Given the description of an element on the screen output the (x, y) to click on. 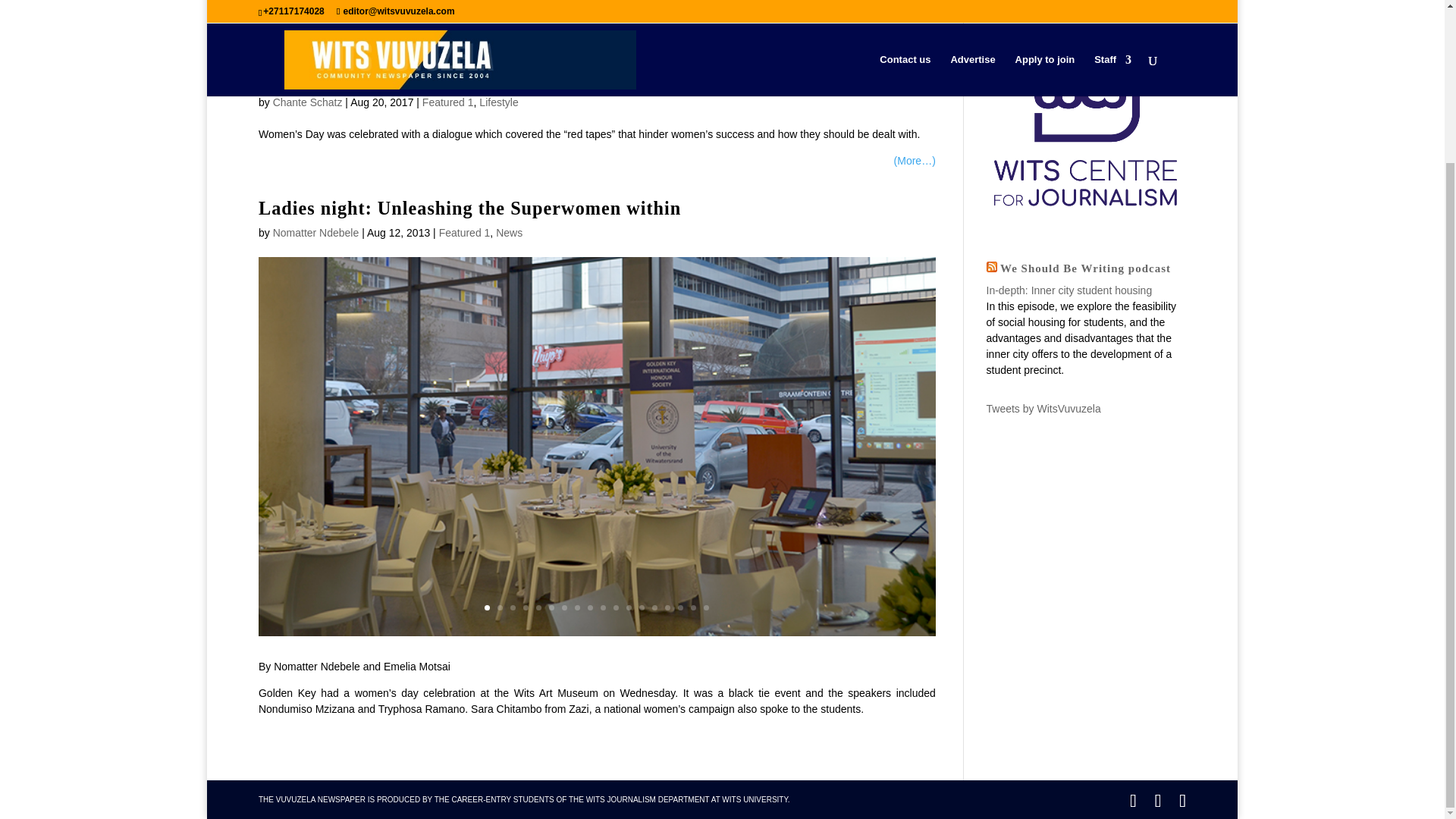
Posts by Chante Schatz (307, 102)
Posts by Nomatter Ndebele (316, 232)
